Given the description of an element on the screen output the (x, y) to click on. 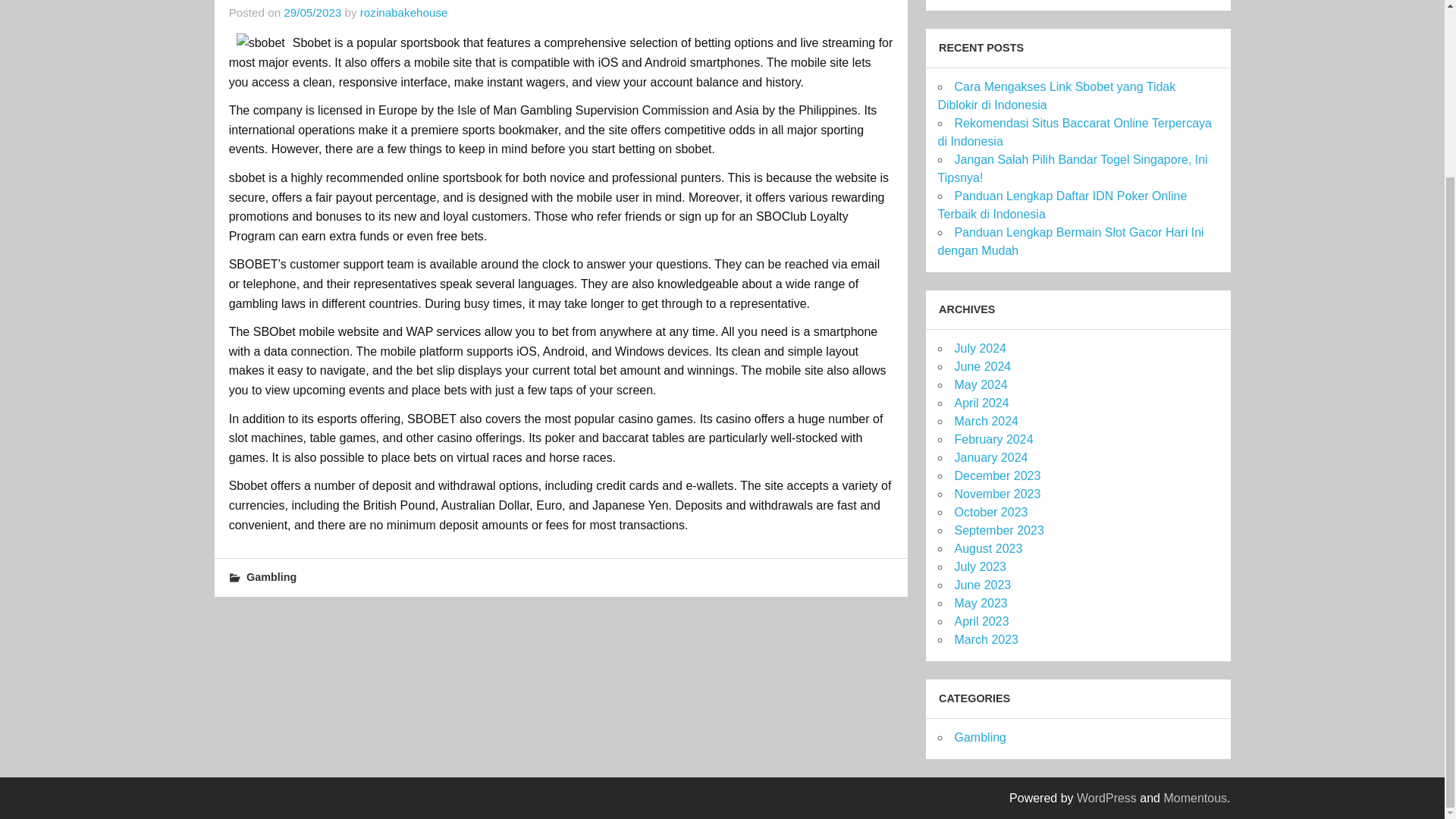
Rekomendasi Situs Baccarat Online Terpercaya di Indonesia (1074, 132)
6:14 PM (311, 11)
July 2023 (979, 566)
Jangan Salah Pilih Bandar Togel Singapore, Ini Tipsnya! (1072, 168)
December 2023 (997, 475)
May 2023 (980, 603)
rozinabakehouse (403, 11)
February 2024 (992, 439)
June 2023 (981, 584)
Cara Mengakses Link Sbobet yang Tidak Diblokir di Indonesia (1055, 95)
August 2023 (987, 548)
Momentous WordPress Theme (1195, 797)
View all posts by rozinabakehouse (403, 11)
Gambling (271, 576)
Momentous (1195, 797)
